Given the description of an element on the screen output the (x, y) to click on. 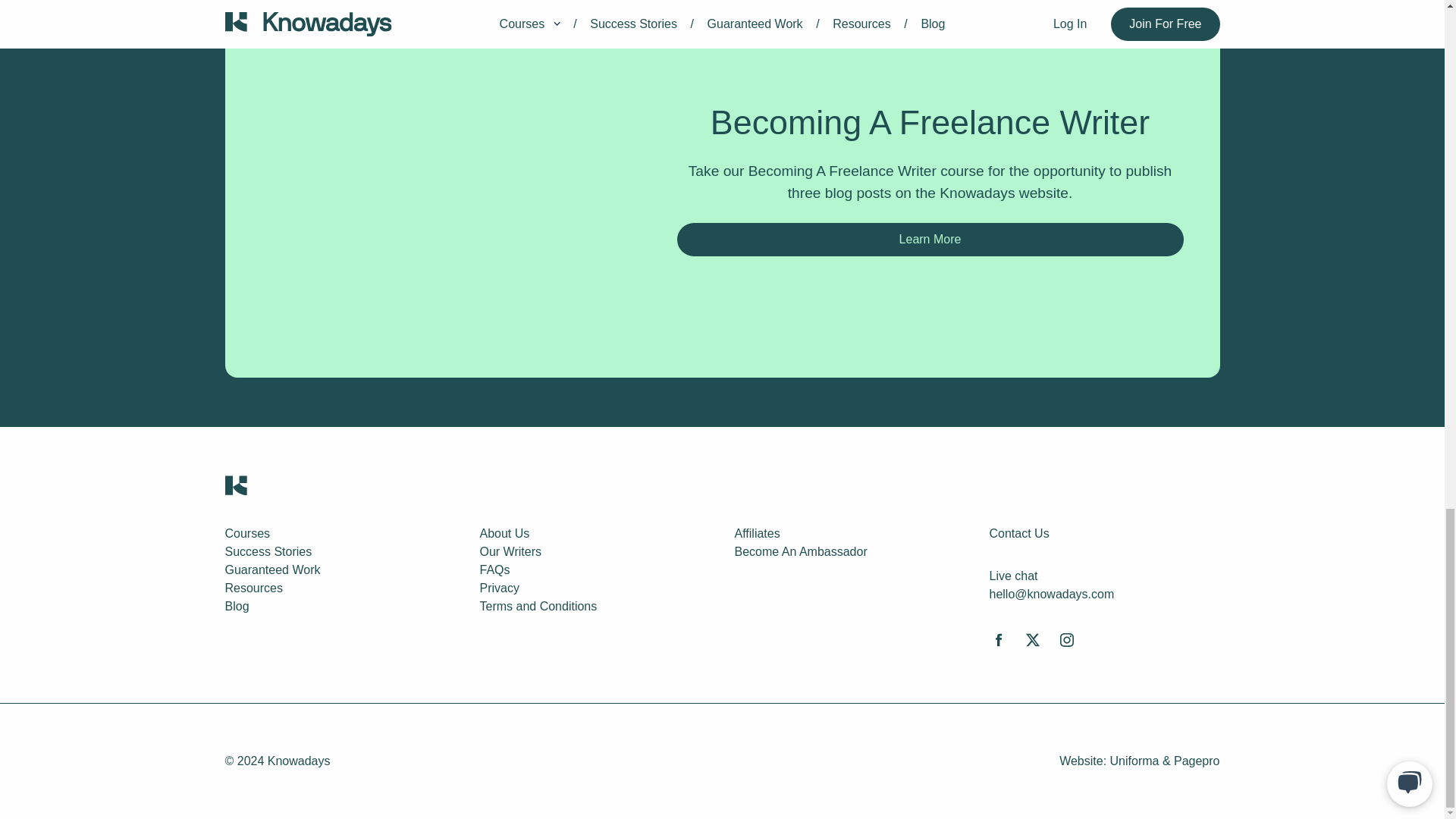
Courses (246, 533)
FAQs (494, 569)
Guaranteed Work (272, 569)
Learn More (929, 239)
About Us (504, 533)
Our Writers (509, 551)
Blog (236, 605)
Success Stories (267, 551)
Resources (253, 587)
Privacy (498, 587)
